Given the description of an element on the screen output the (x, y) to click on. 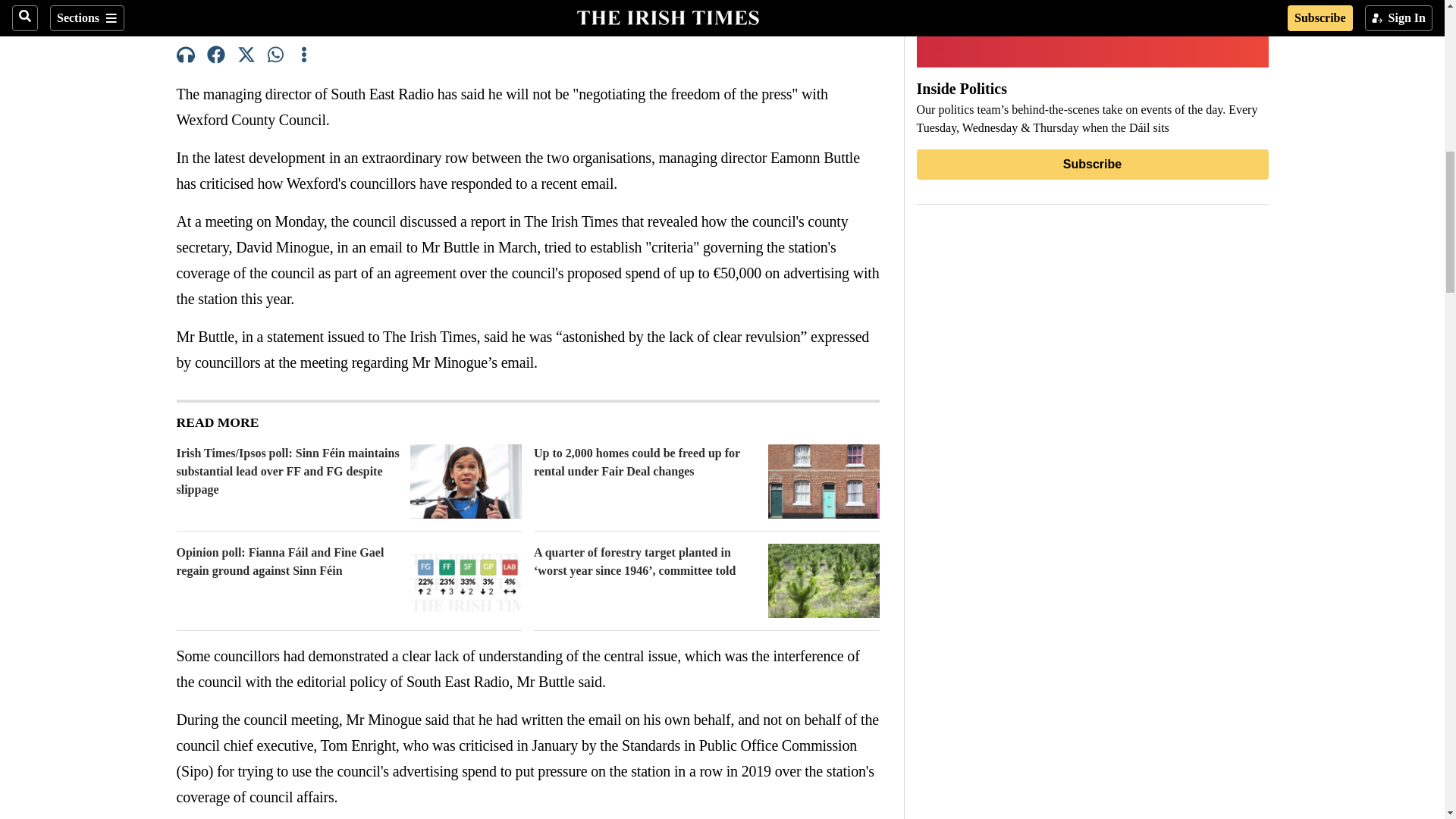
WhatsApp (275, 56)
X (244, 56)
Facebook (215, 56)
